Given the description of an element on the screen output the (x, y) to click on. 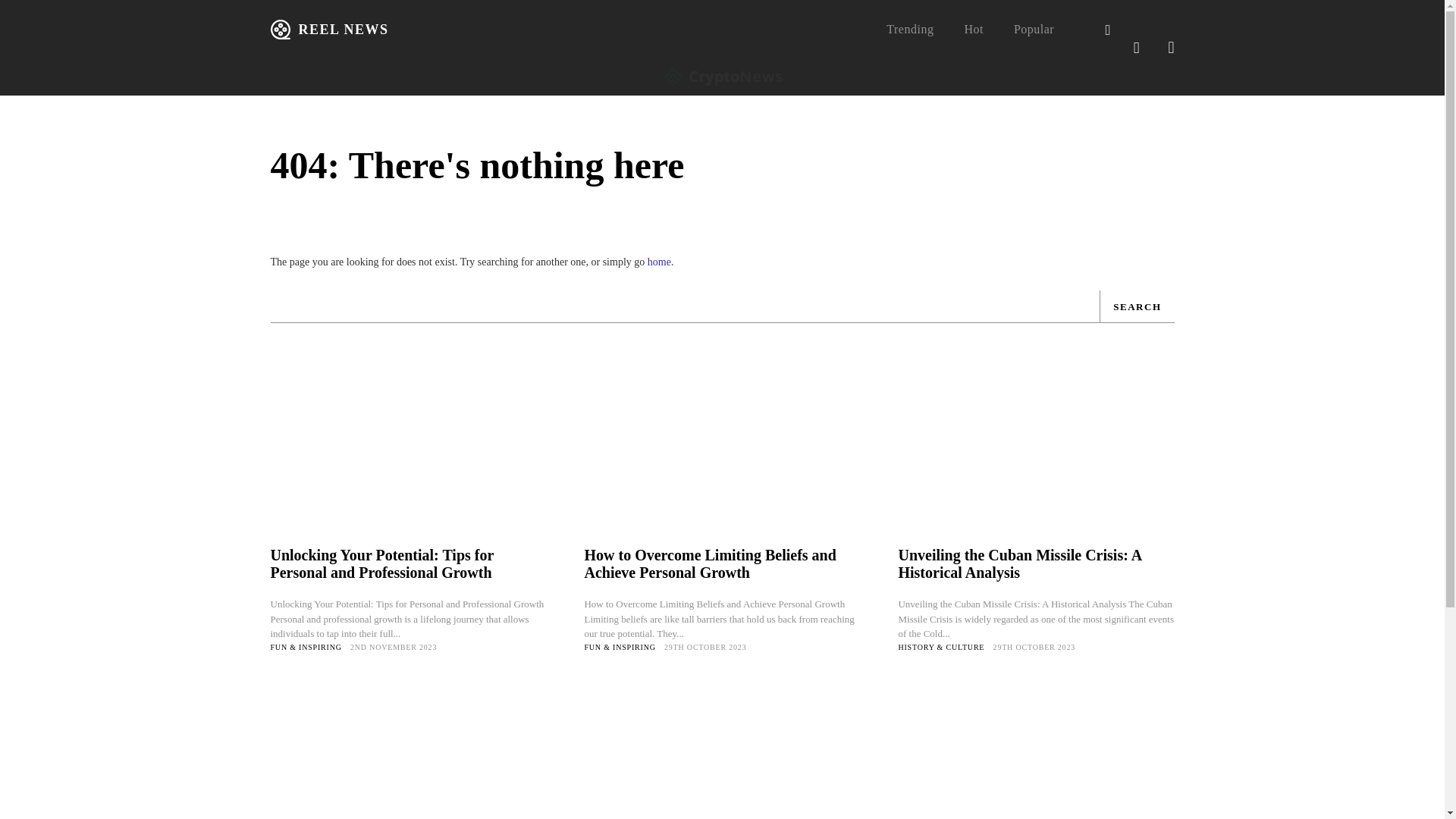
SEARCH (1136, 306)
Unveiling the Cuban Missile Crisis: A Historical Analysis (1035, 467)
How to Overcome Limiting Beliefs and Achieve Personal Growth (709, 563)
How to Overcome Limiting Beliefs and Achieve Personal Growth (709, 563)
REEL NEWS (328, 29)
How to Overcome Limiting Beliefs and Achieve Personal Growth (721, 467)
Unveiling the Cuban Missile Crisis: A Historical Analysis (1019, 563)
